Given the description of an element on the screen output the (x, y) to click on. 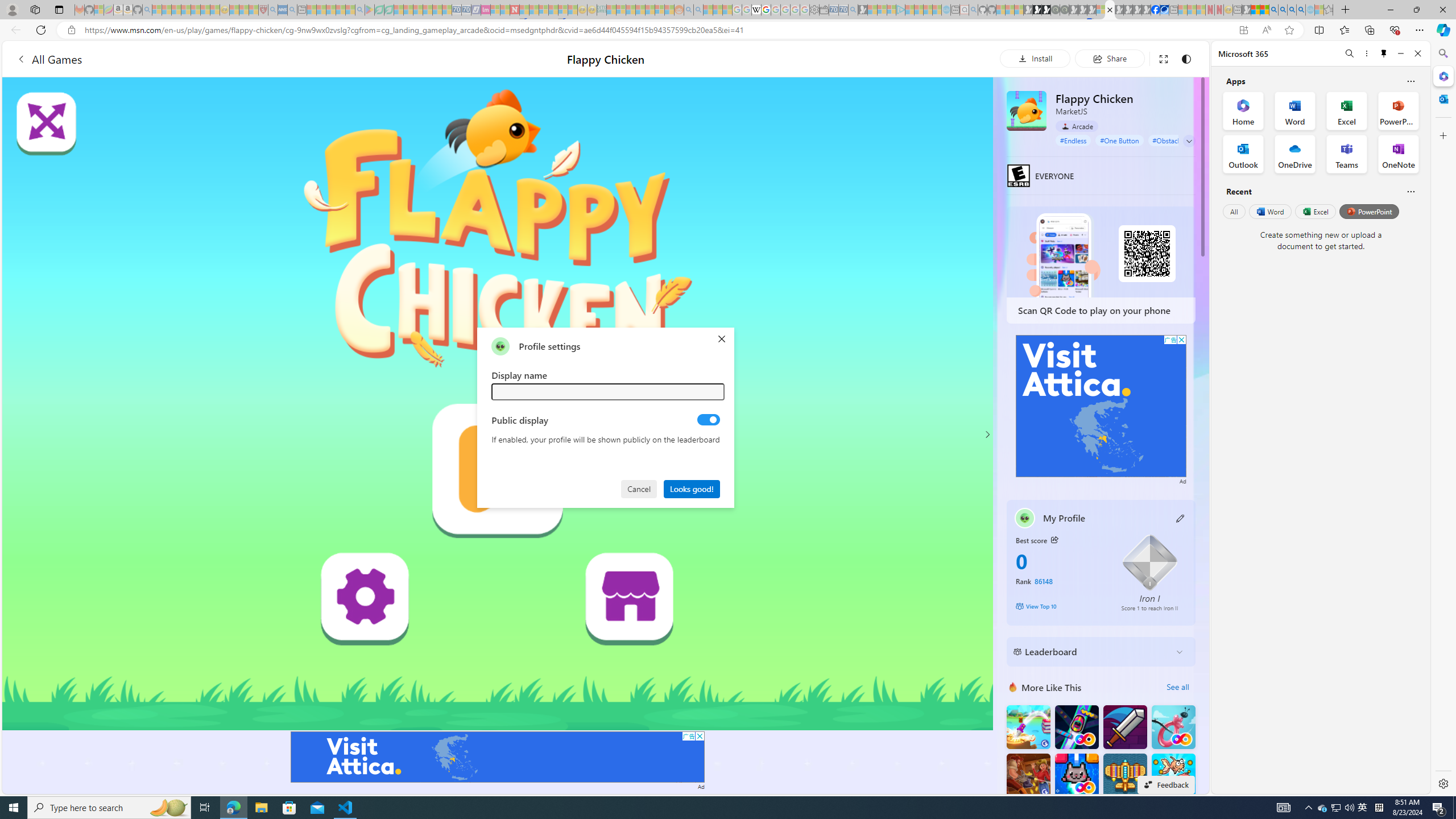
#Obstacle Course (1178, 140)
Target page - Wikipedia (755, 9)
Excel Office App (1346, 110)
Bing Real Estate - Home sales and rental listings - Sleeping (853, 9)
Address and search bar (658, 29)
Dungeon Master Knight (1124, 726)
Bluey: Let's Play! - Apps on Google Play - Sleeping (369, 9)
google - Search - Sleeping (359, 9)
Class: control (1188, 140)
App bar (728, 29)
